Given the description of an element on the screen output the (x, y) to click on. 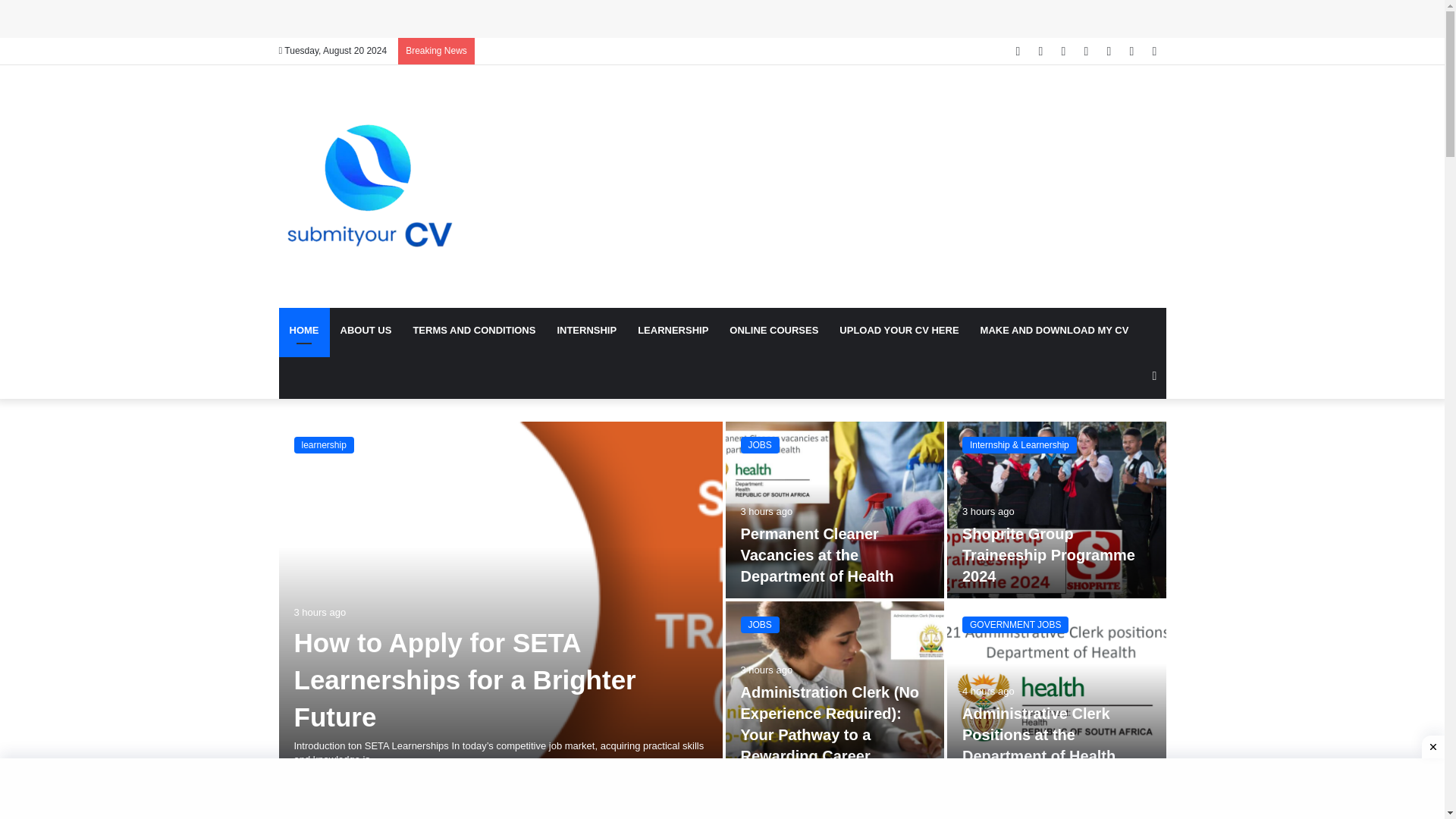
JOBS (758, 444)
HOME (304, 329)
INTERNSHIP (586, 329)
ONLINE COURSES (773, 329)
Submit Your Cv (370, 186)
UPLOAD YOUR CV HERE (898, 329)
TERMS AND CONDITIONS (473, 329)
ABOUT US (365, 329)
Permanent Cleaner Vacancies at the Department of Health (816, 554)
JOBS (758, 624)
